Given the description of an element on the screen output the (x, y) to click on. 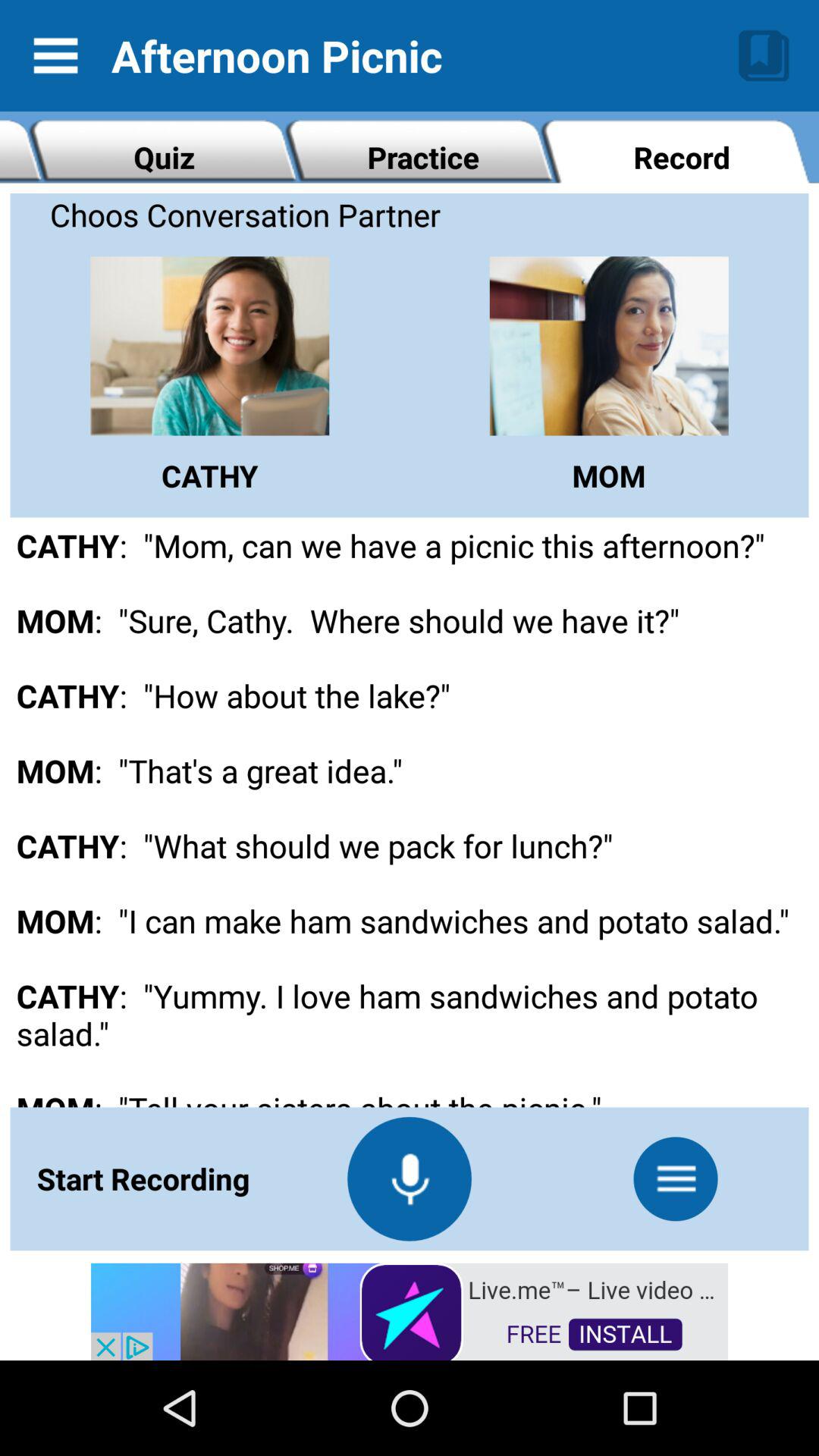
go to menu (675, 1178)
